Given the description of an element on the screen output the (x, y) to click on. 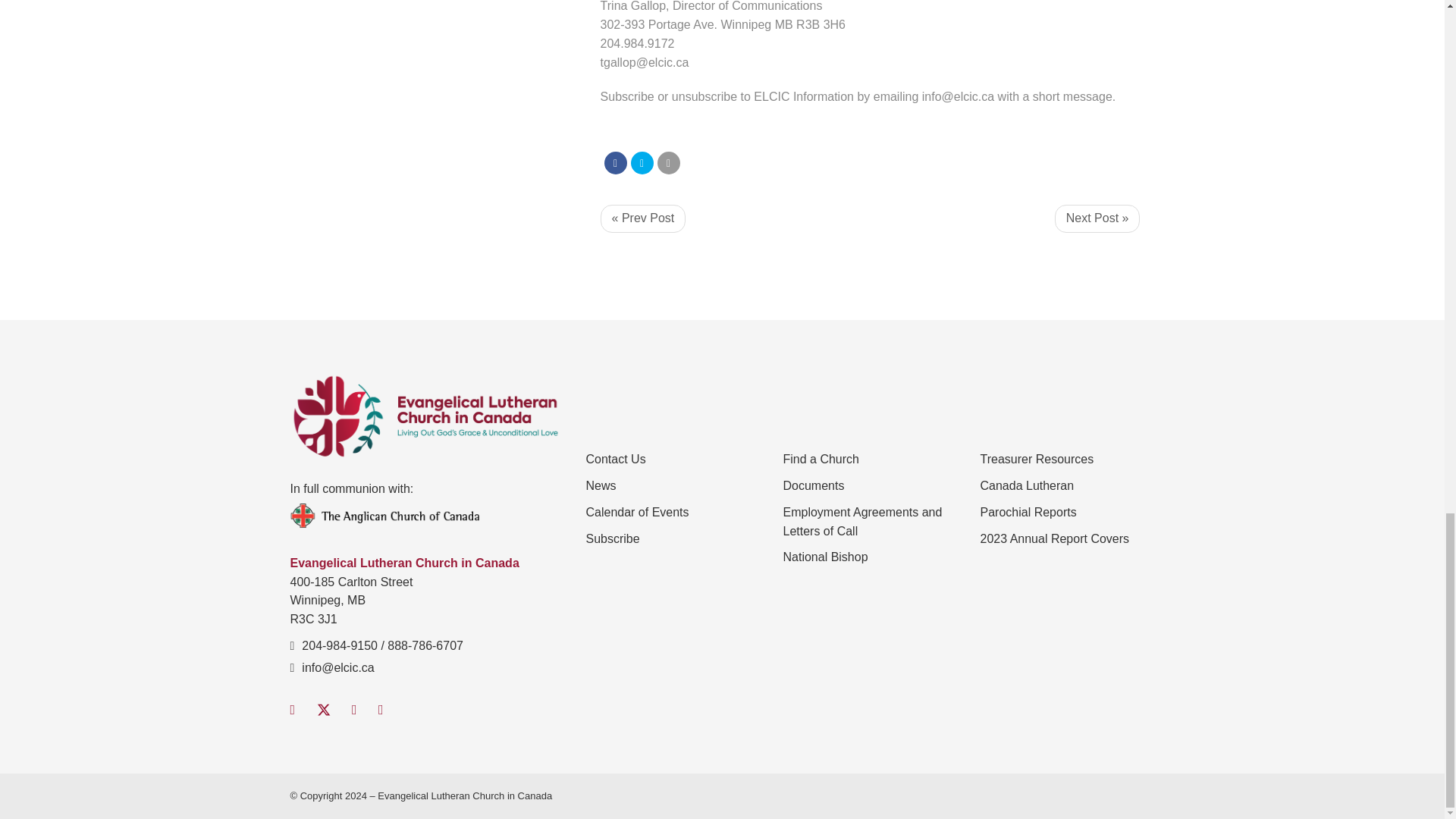
Evangelical Lutheran Church in Canada (425, 417)
Twitter (323, 709)
Share on Facebook (615, 162)
Email ELCIC (337, 667)
Tweet this content (641, 162)
Anglican Church of Canada (425, 515)
Send this via Email (668, 162)
